Given the description of an element on the screen output the (x, y) to click on. 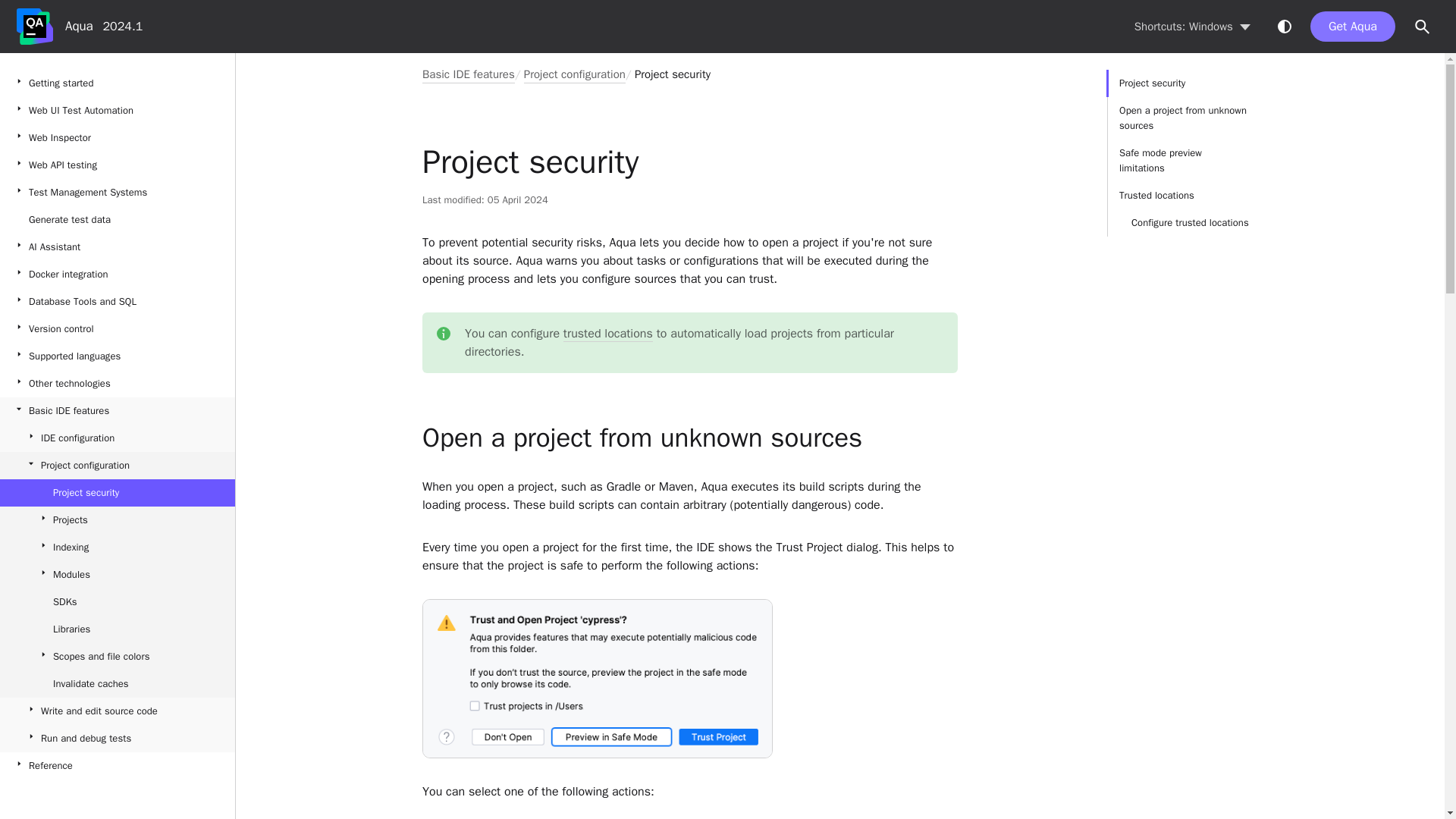
Basic IDE features (468, 74)
Test Management Systems (117, 192)
Search (1422, 26)
Project configuration (575, 74)
Libraries (117, 628)
trusted locations (607, 333)
Get Aqua (1352, 26)
Modules (117, 574)
Project configuration (117, 465)
AI Assistant (117, 247)
Web Inspector (117, 137)
Untrusted Project (597, 678)
Project security (672, 74)
Basic IDE features (117, 411)
